Given the description of an element on the screen output the (x, y) to click on. 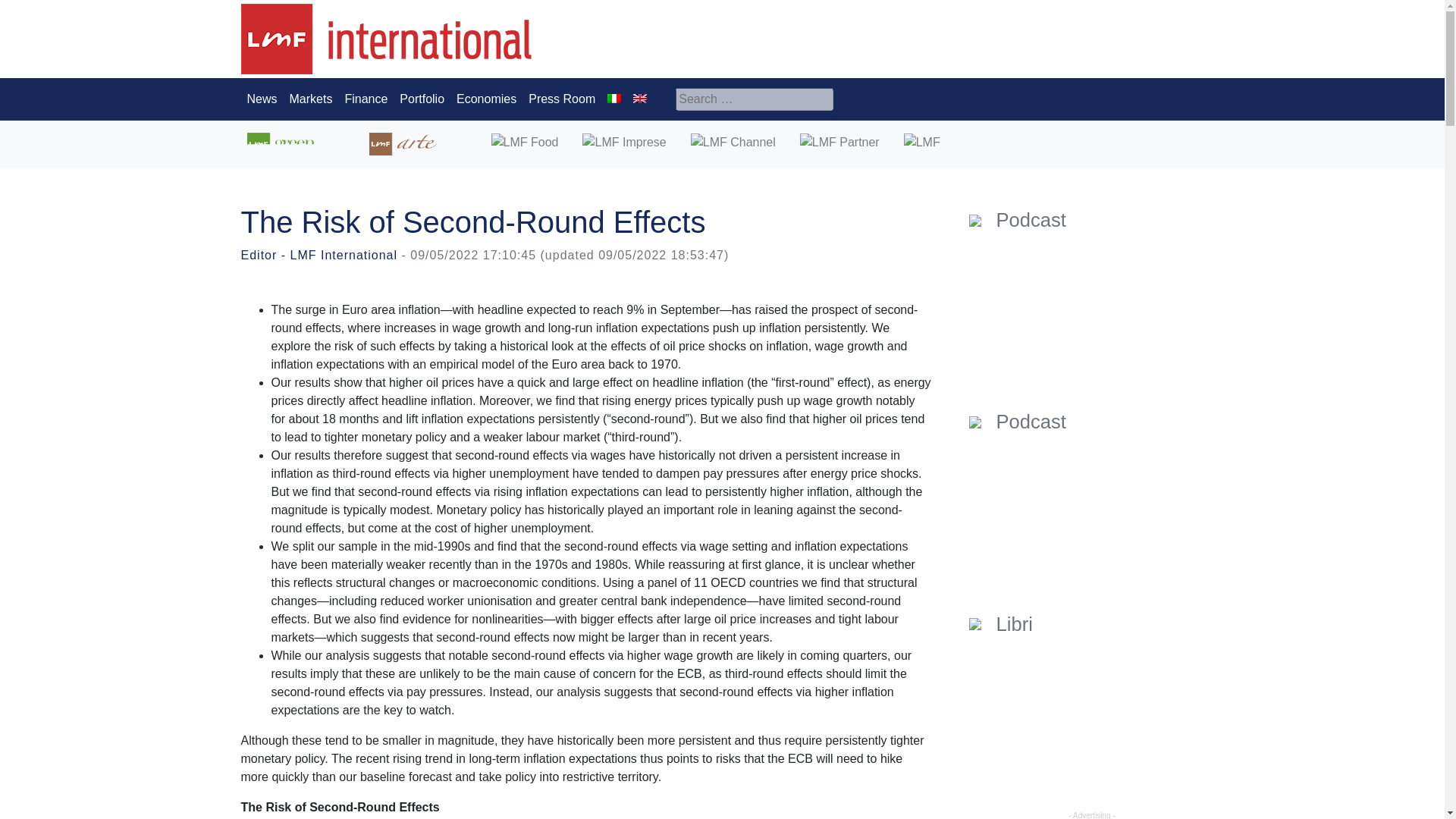
Economies (485, 99)
Finance (365, 99)
Press Room (561, 99)
Portfolio (421, 99)
Search for: (753, 98)
Markets (311, 99)
News (262, 99)
